Given the description of an element on the screen output the (x, y) to click on. 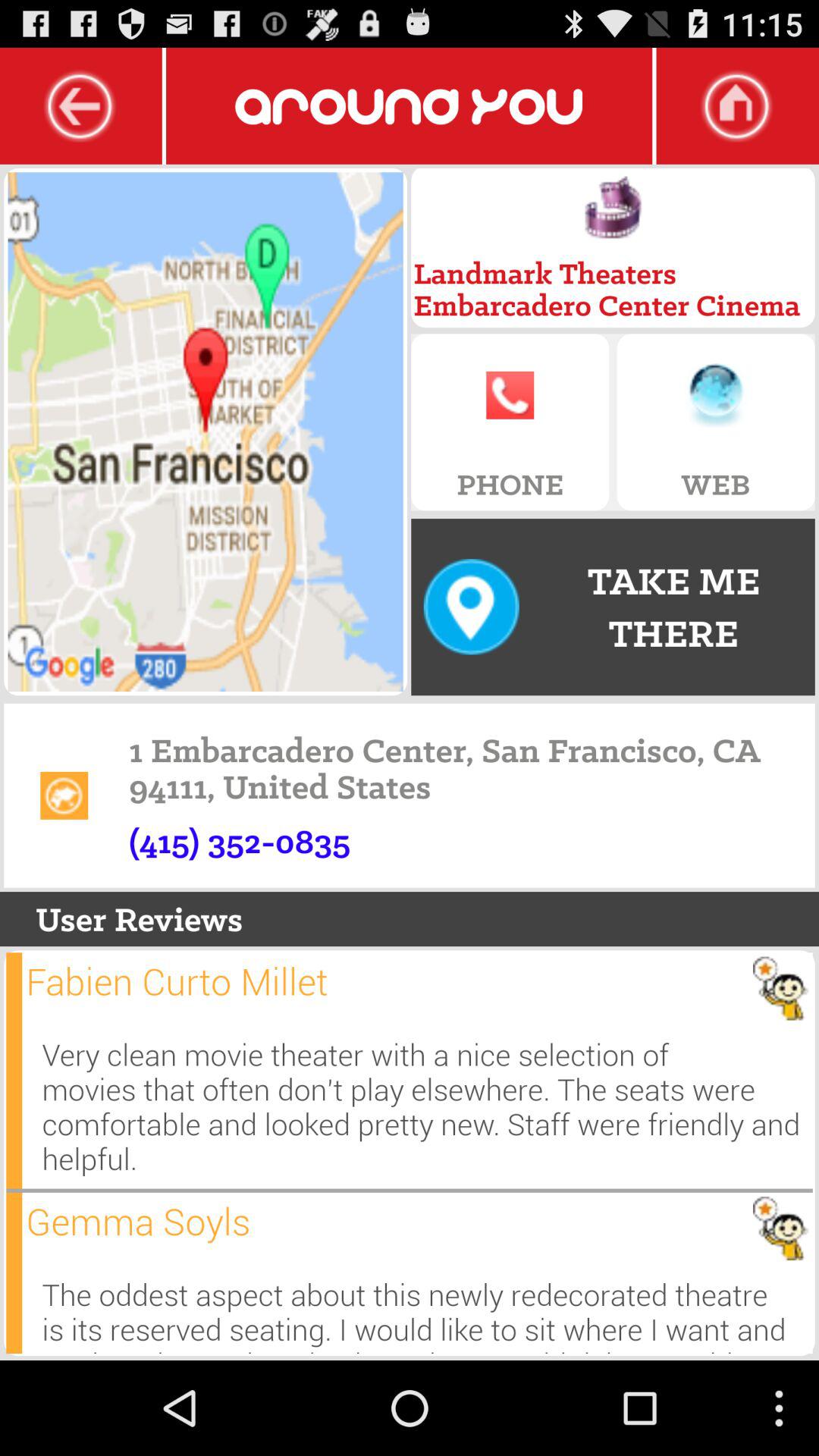
turn off the item above gemma soyls item (427, 1106)
